Given the description of an element on the screen output the (x, y) to click on. 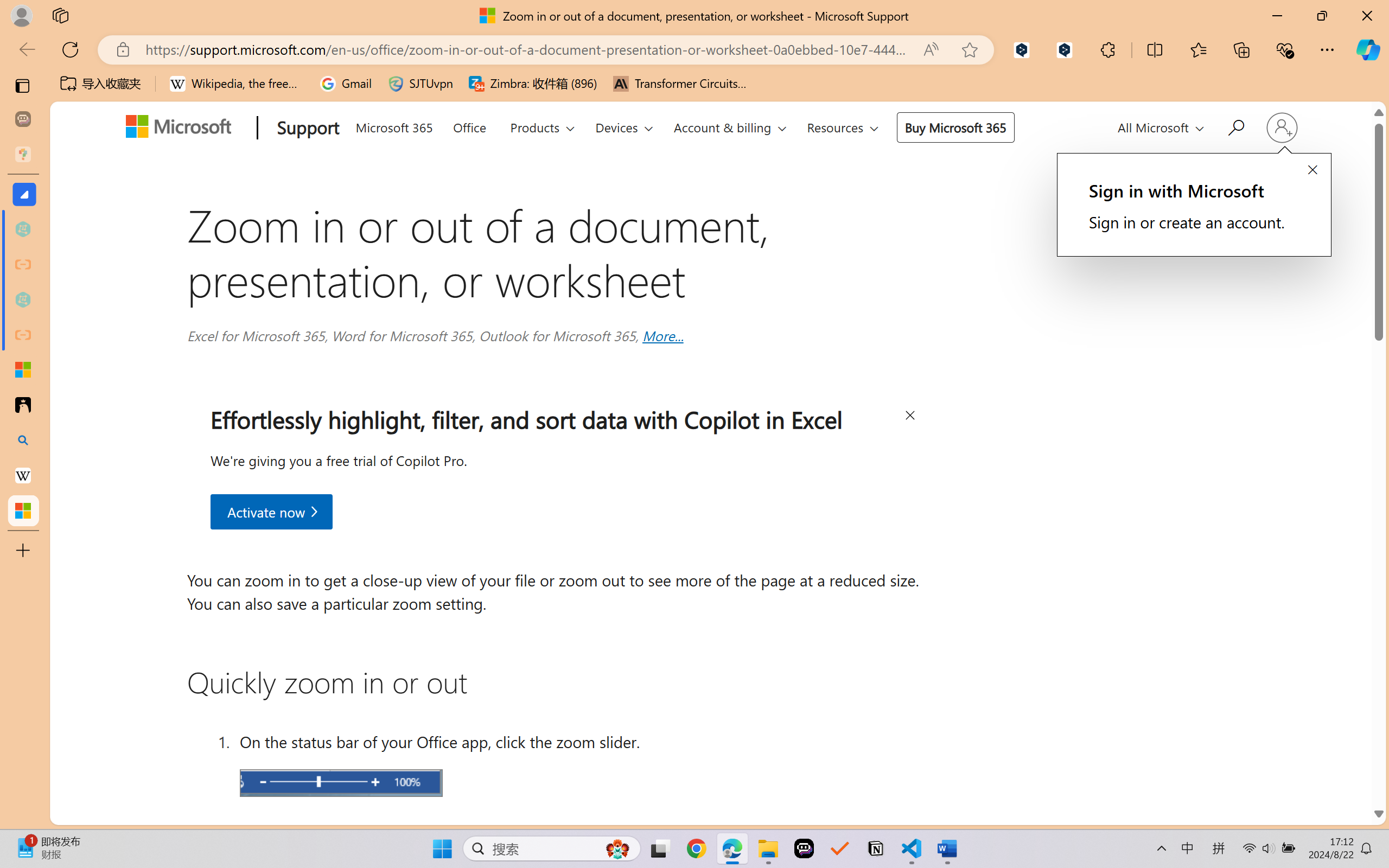
Copilot (Ctrl+Shift+.) (1368, 49)
Adjust indents and spacing - Microsoft Support (22, 369)
Gmail (345, 83)
Office (469, 125)
Close Ad (908, 417)
Buy Microsoft 365 (954, 127)
